Given the description of an element on the screen output the (x, y) to click on. 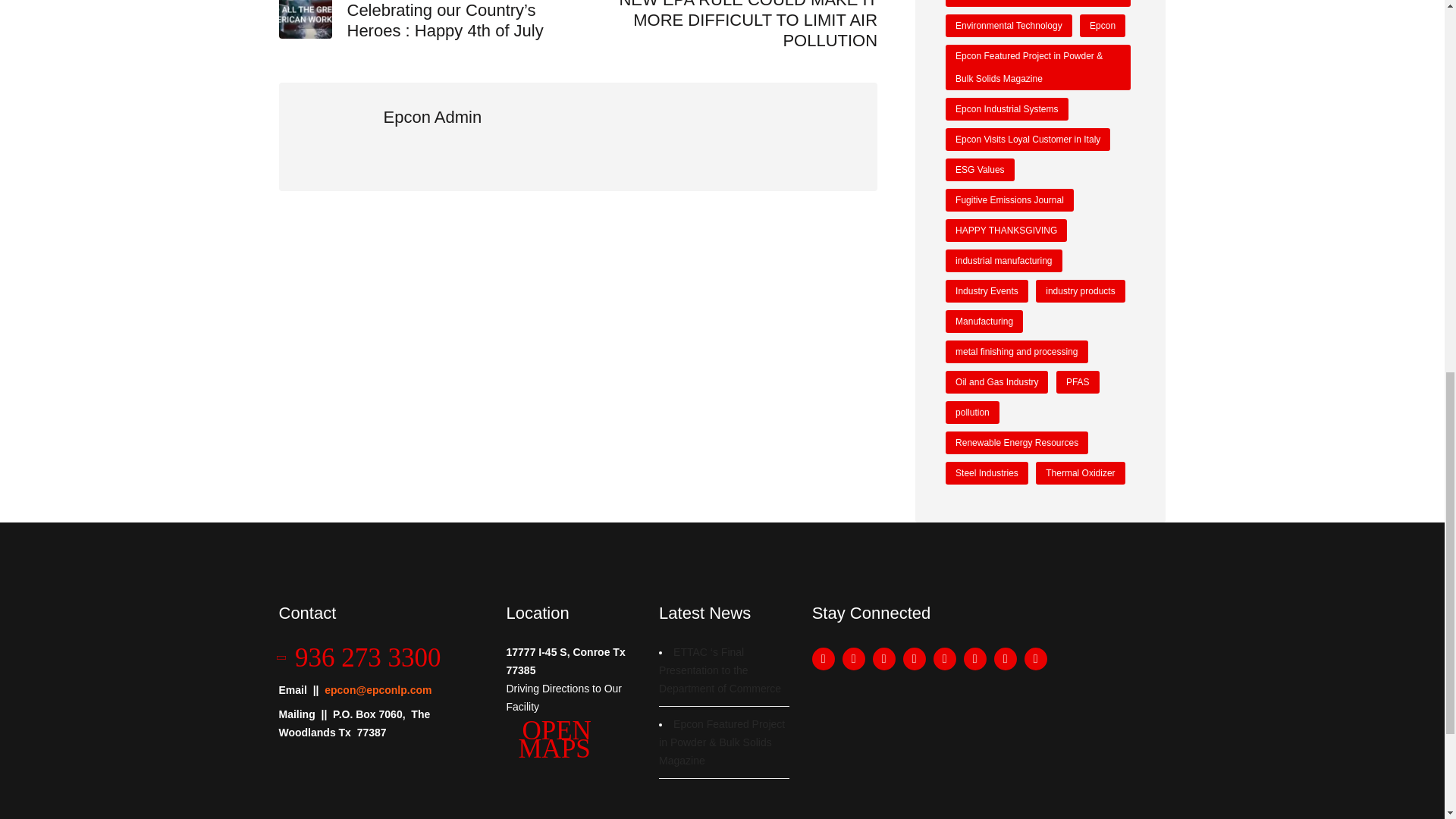
Posts by Epcon Admin (432, 116)
